Given the description of an element on the screen output the (x, y) to click on. 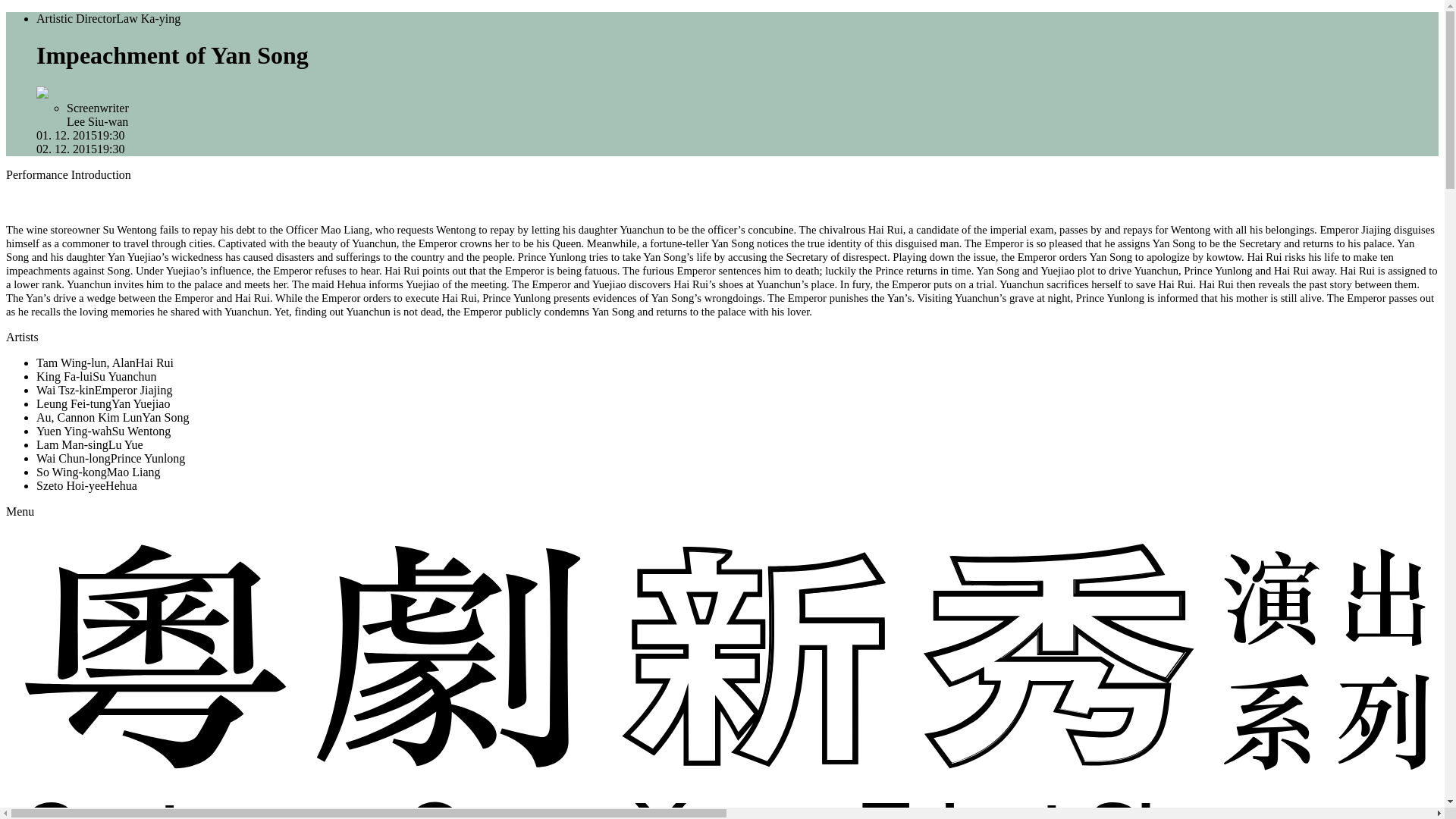
Wai Chun-longPrince Yunlong (110, 458)
Szeto Hoi-yeeHehua (86, 485)
King Fa-luiSu Yuanchun (96, 376)
Tam Wing-lun, AlanHai Rui (104, 362)
Lam Man-singLu Yue (89, 444)
Wai Tsz-kinEmperor Jiajing (103, 390)
Yuen Ying-wahSu Wentong (103, 431)
Leung Fei-tungYan Yuejiao (103, 403)
Au, Cannon Kim LunYan Song (112, 417)
So Wing-kongMao Liang (98, 472)
